Given the description of an element on the screen output the (x, y) to click on. 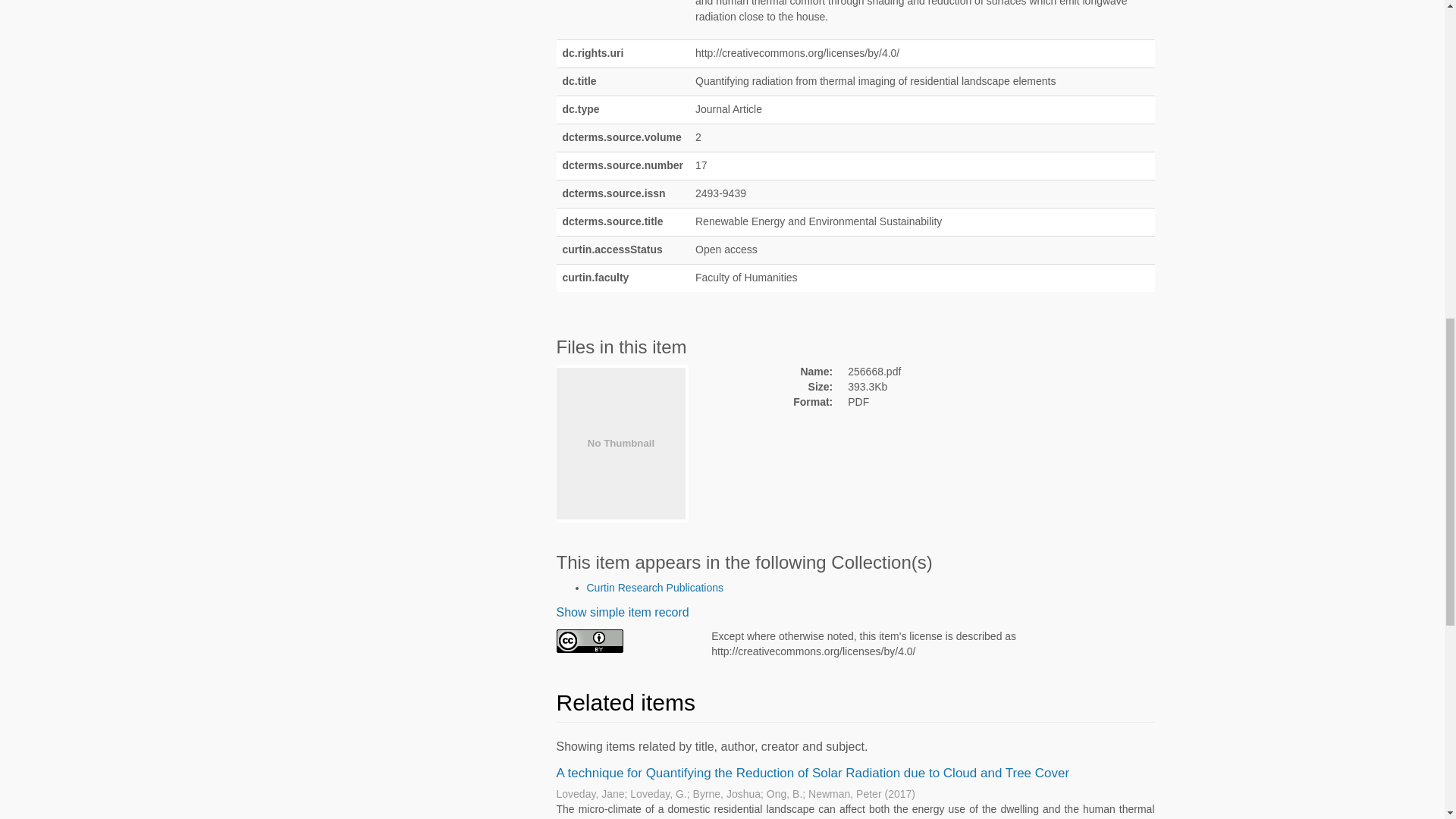
256668.pdf (949, 372)
Show simple item record (622, 612)
Curtin Research Publications (654, 587)
